Given the description of an element on the screen output the (x, y) to click on. 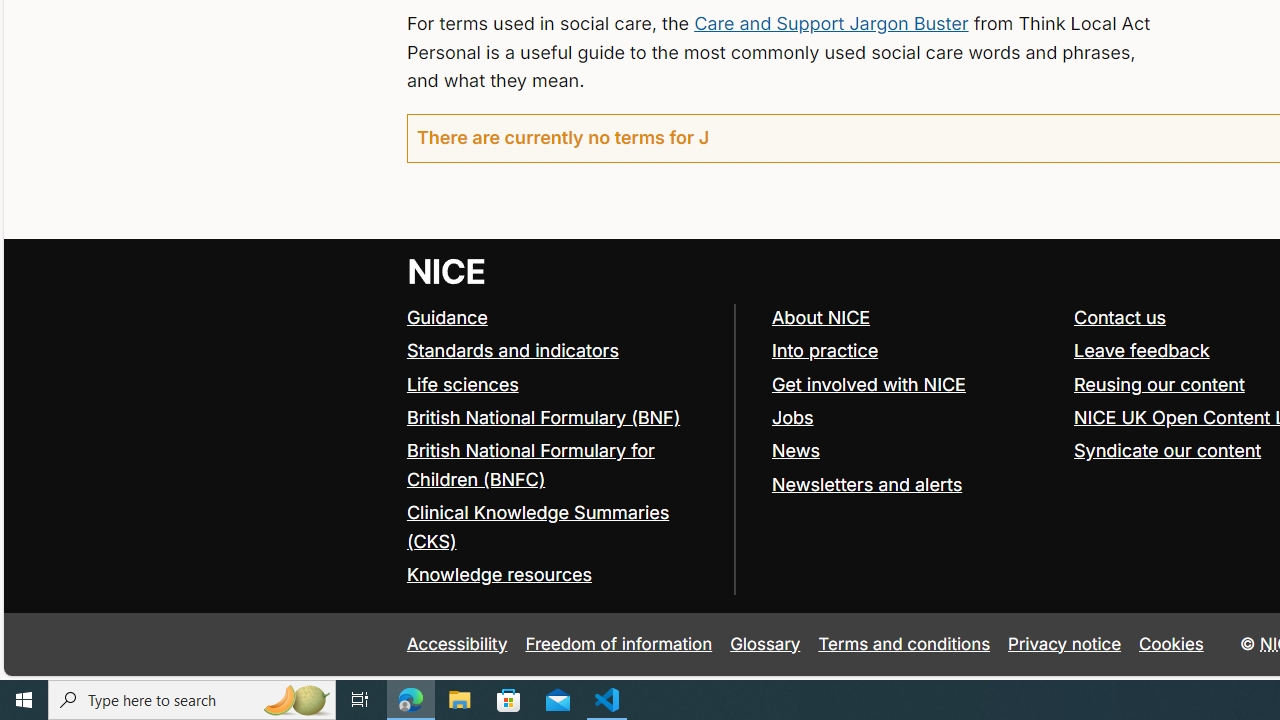
Privacy notice (1065, 644)
Go to NICE home page (445, 270)
Freedom of information (618, 644)
Into practice (913, 351)
Syndicate our content (1167, 450)
Newsletters and alerts (913, 484)
Life sciences (560, 385)
Reusing our content (1159, 383)
Cookies (1171, 644)
Knowledge resources (498, 574)
Freedom of information (618, 644)
Knowledge resources (560, 575)
Glossary (765, 644)
